Given the description of an element on the screen output the (x, y) to click on. 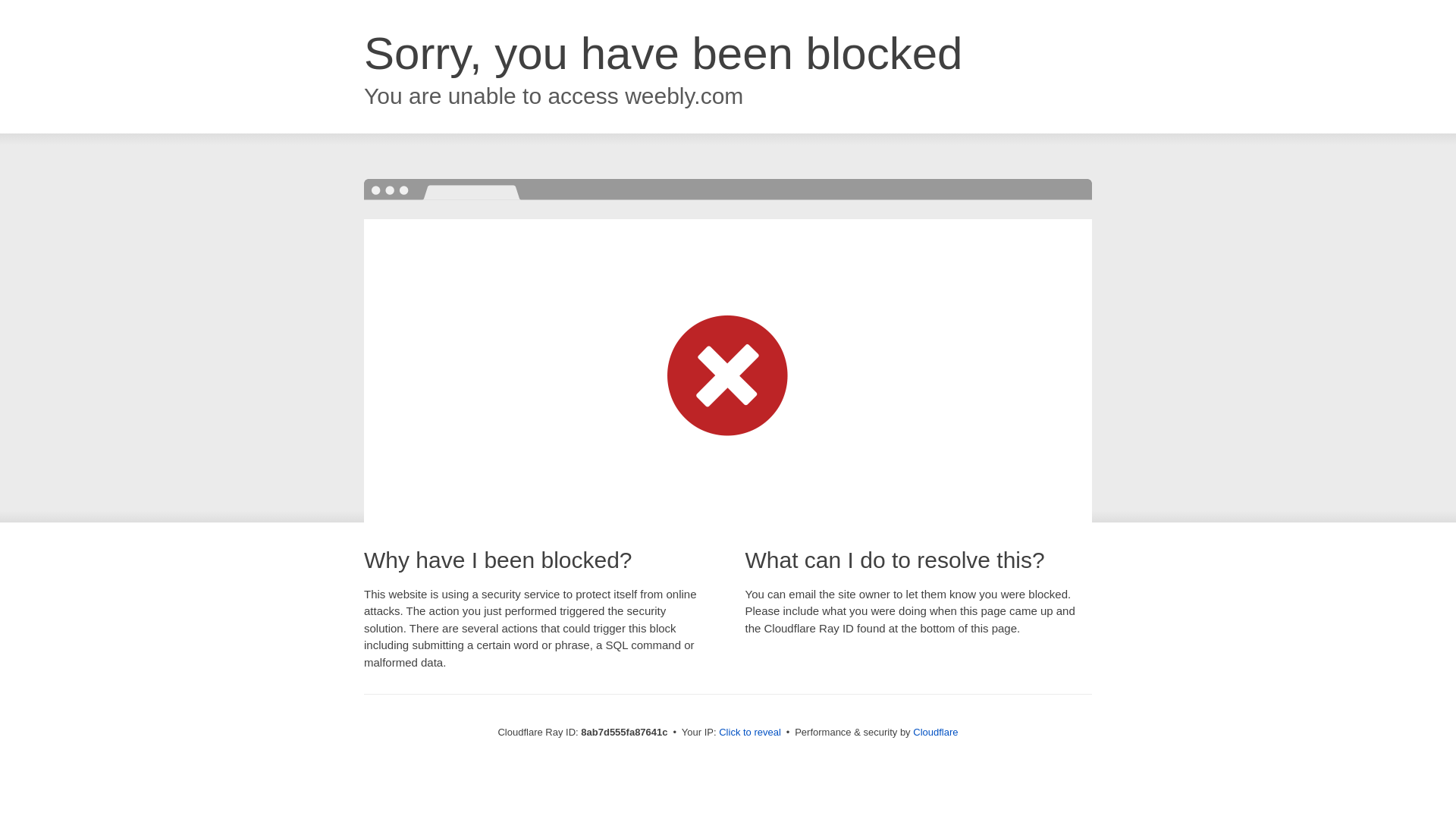
Click to reveal (749, 732)
Cloudflare (935, 731)
